Given the description of an element on the screen output the (x, y) to click on. 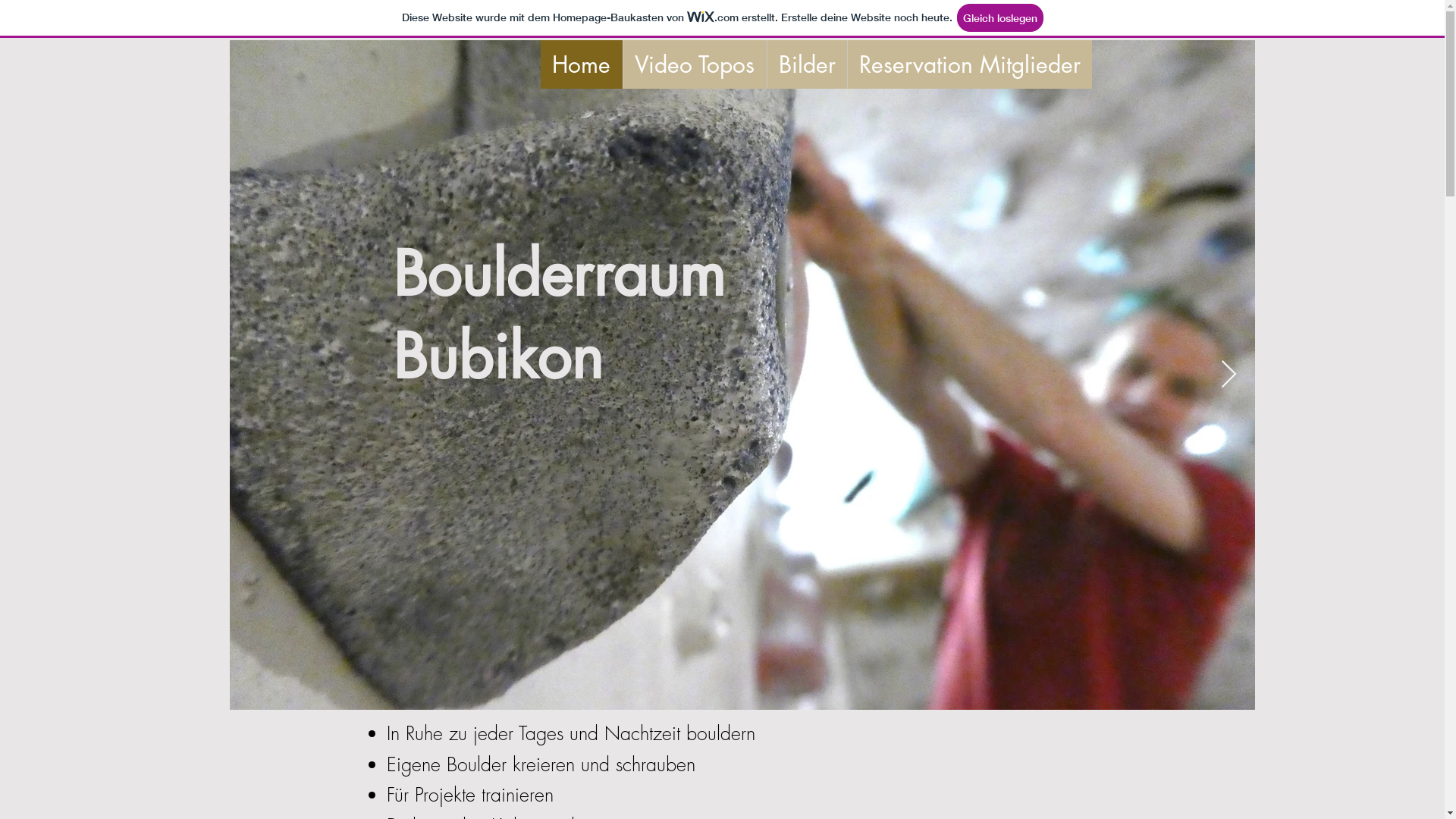
Bilder Element type: text (805, 64)
Home Element type: text (580, 64)
Video Topos Element type: text (693, 64)
Reservation Mitglieder Element type: text (968, 64)
